Given the description of an element on the screen output the (x, y) to click on. 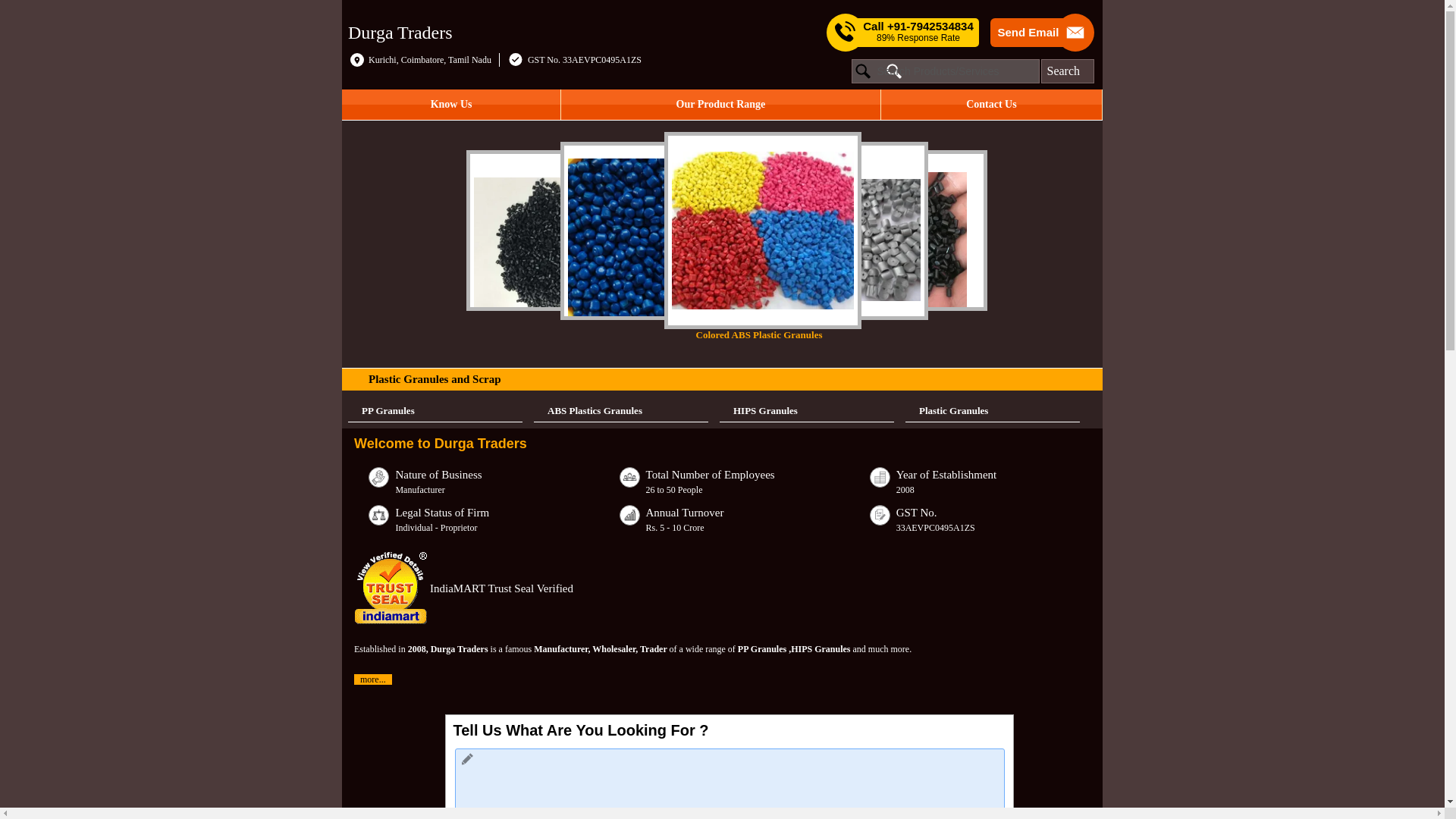
Contact Us (991, 104)
Send SMS Free (917, 32)
Plastic Granules and Scrap (434, 378)
HIPS Granules (806, 411)
ABS Plastics Granules (620, 411)
Plastic Granules (992, 411)
Know Us (451, 104)
Our Product Range (720, 104)
more... (372, 679)
PP Granules (434, 411)
Colored ABS Plastic Granules (769, 236)
